Given the description of an element on the screen output the (x, y) to click on. 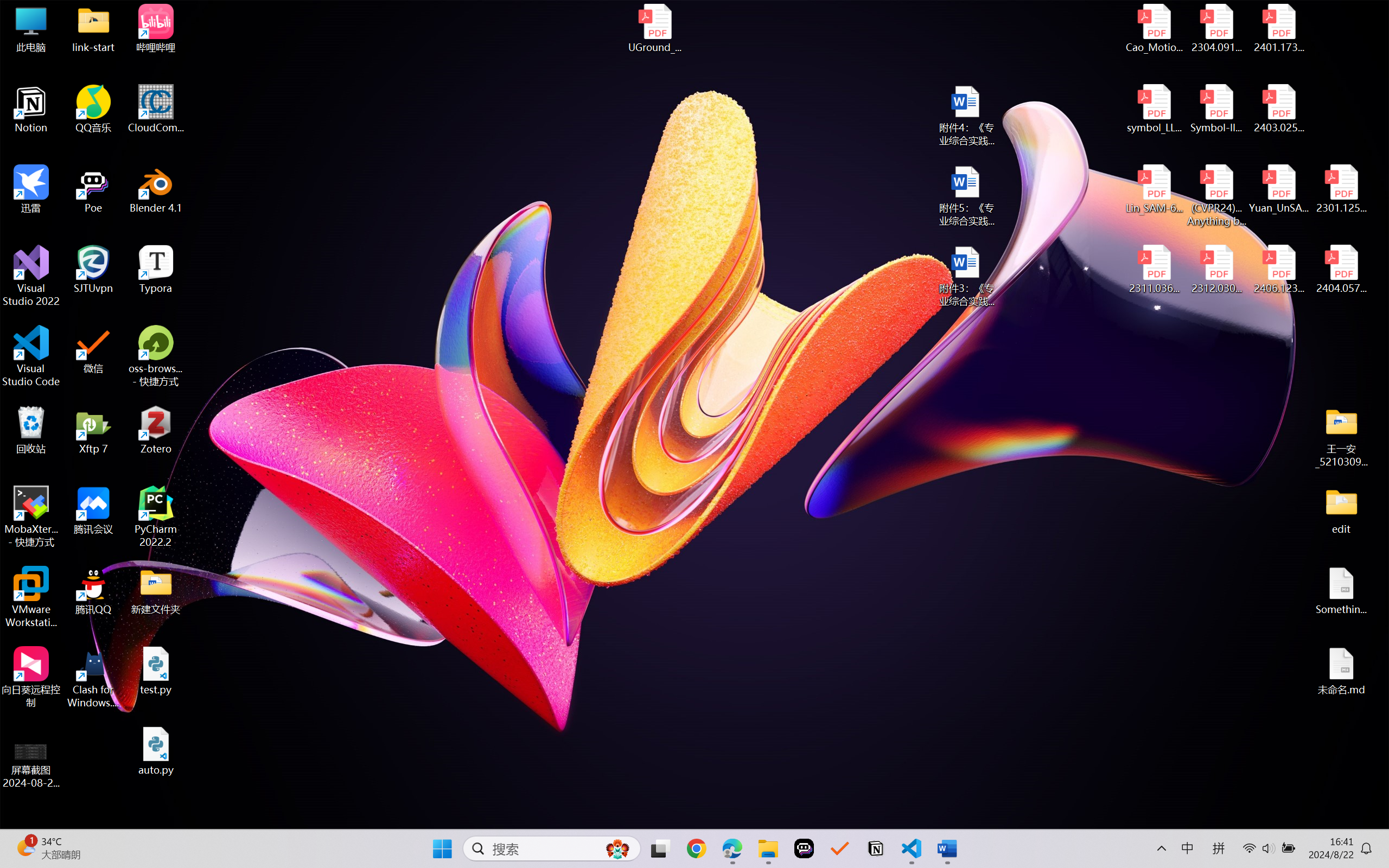
Visual Studio Code (31, 355)
Something.md (1340, 591)
PyCharm 2022.2 (156, 516)
Notion (31, 109)
